Given the description of an element on the screen output the (x, y) to click on. 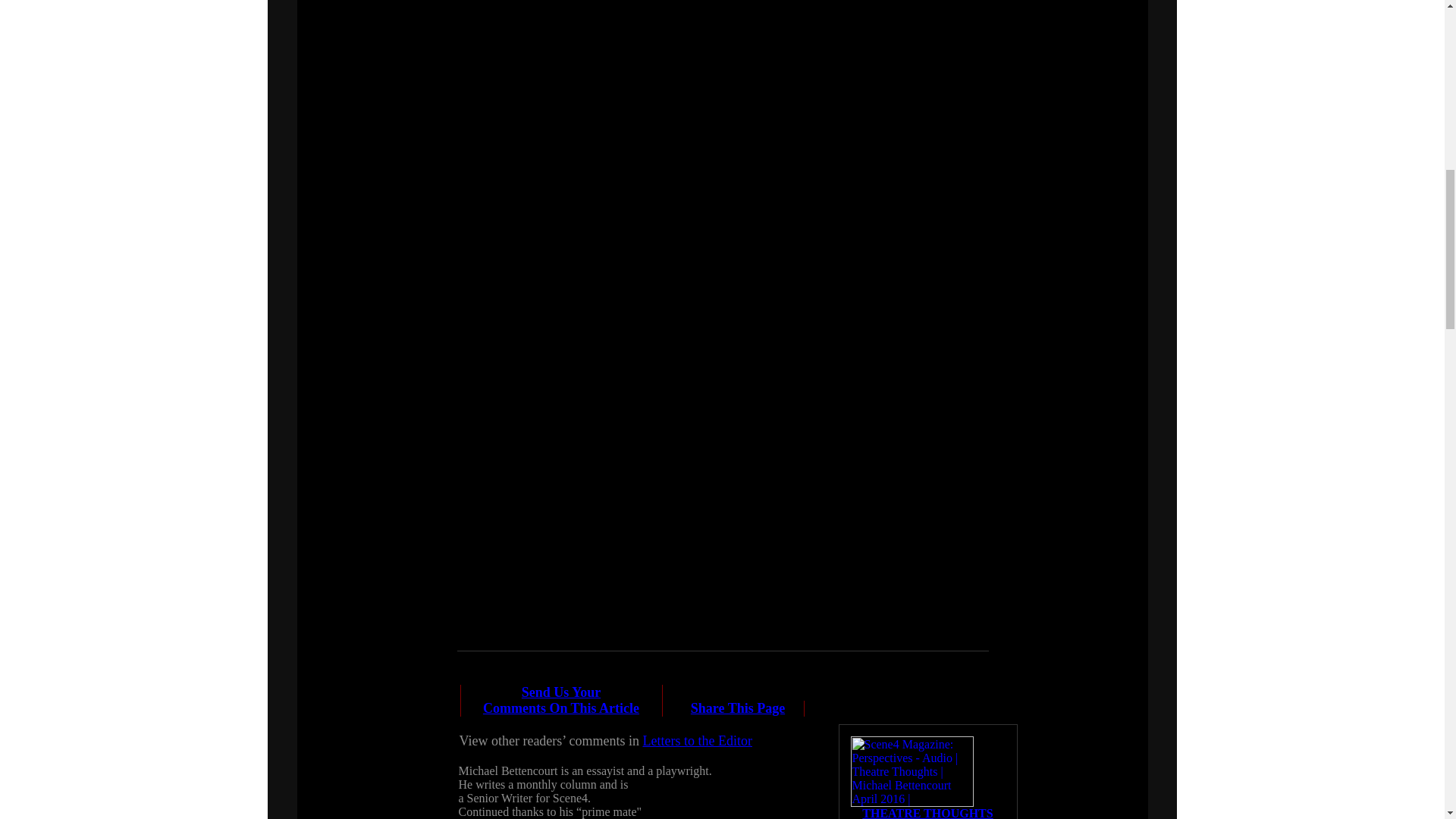
Share This Page (737, 707)
THEATRE THOUGHTS (926, 812)
Letters to the Editor (697, 740)
